Given the description of an element on the screen output the (x, y) to click on. 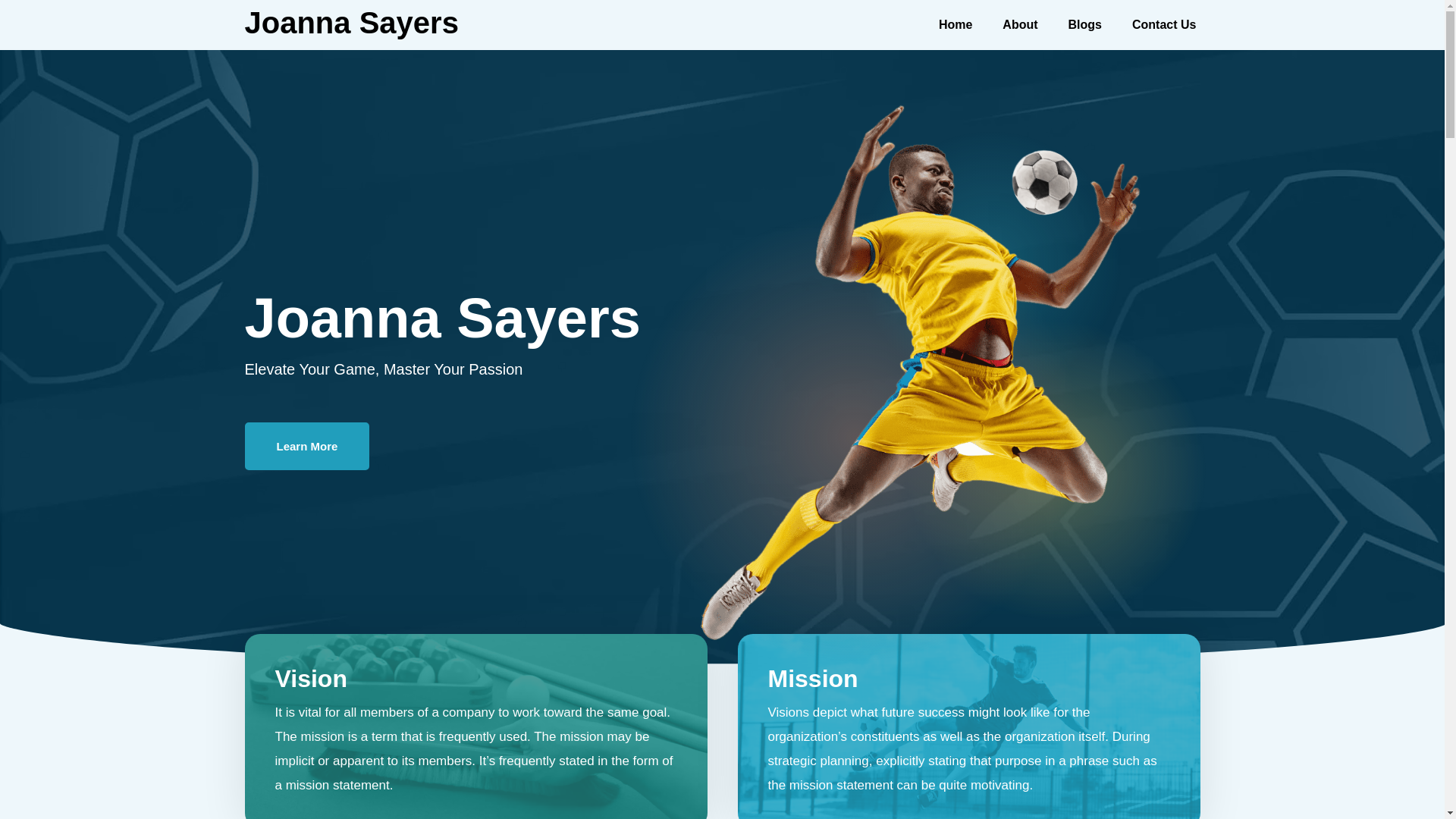
Contact Us (1163, 24)
About (1019, 24)
Learn More (306, 445)
Home (955, 24)
Blogs (1084, 24)
Joanna Sayers (351, 22)
